Given the description of an element on the screen output the (x, y) to click on. 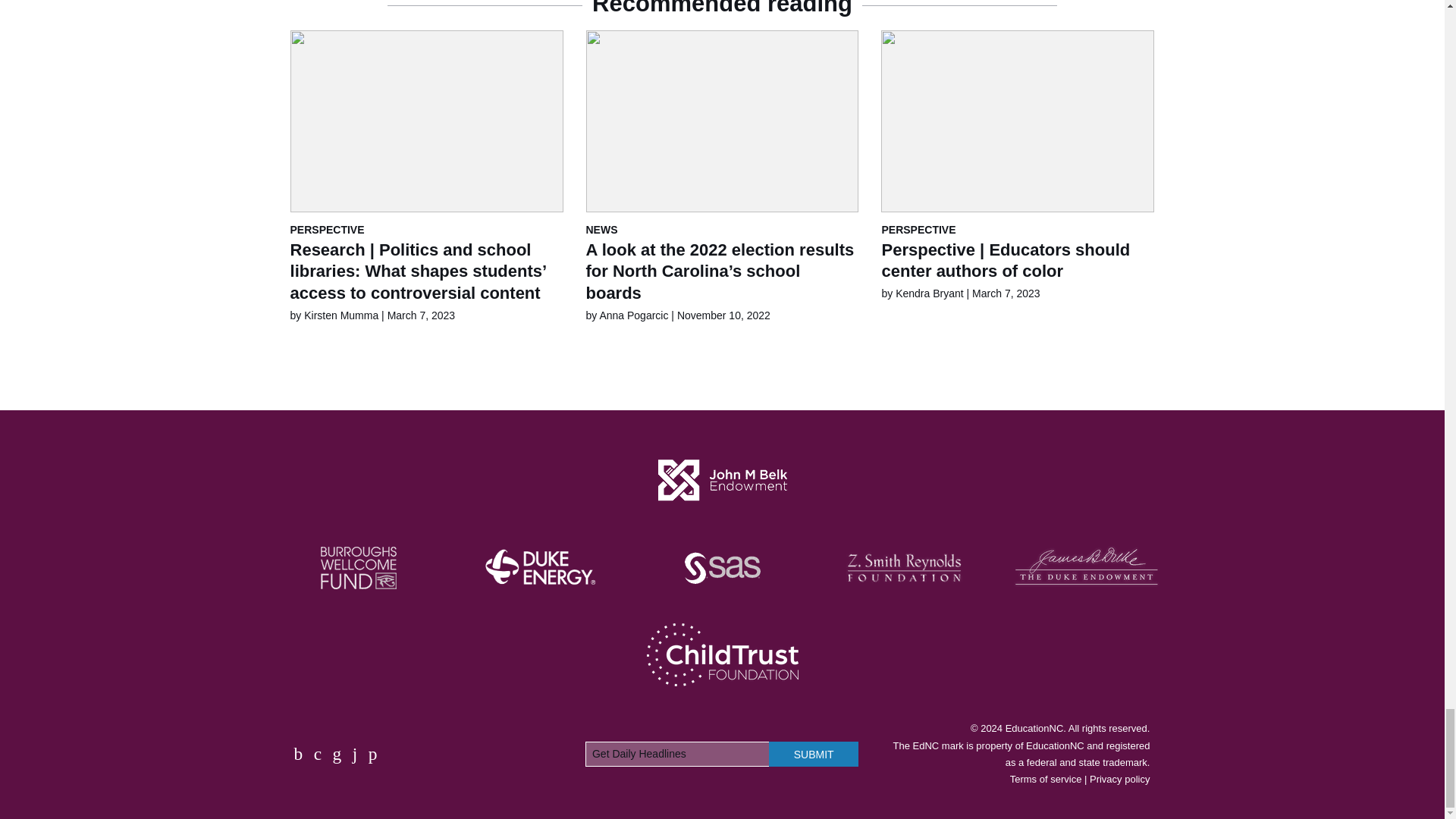
SUBMIT (813, 754)
